Given the description of an element on the screen output the (x, y) to click on. 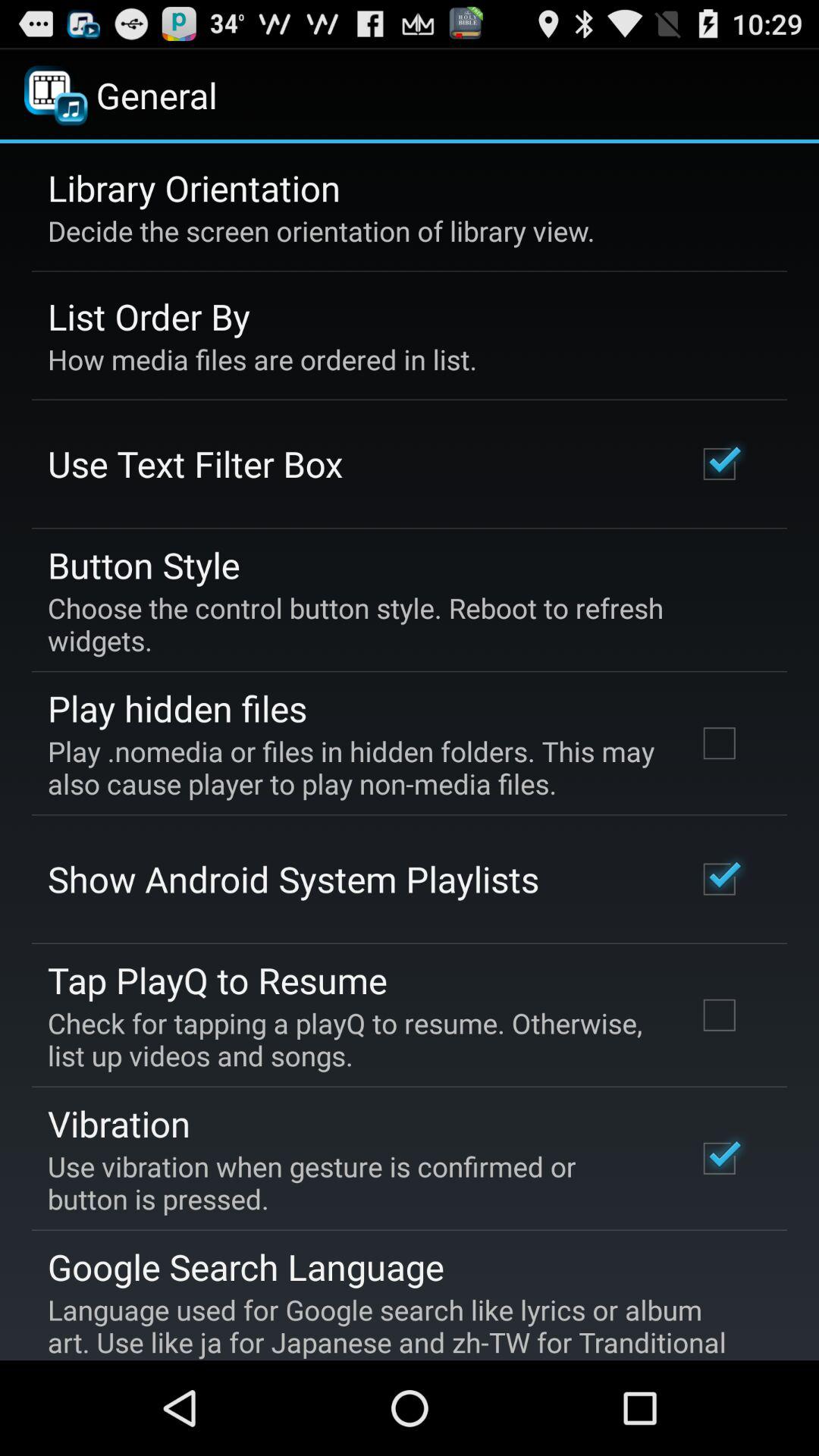
tap decide the screen icon (320, 230)
